Given the description of an element on the screen output the (x, y) to click on. 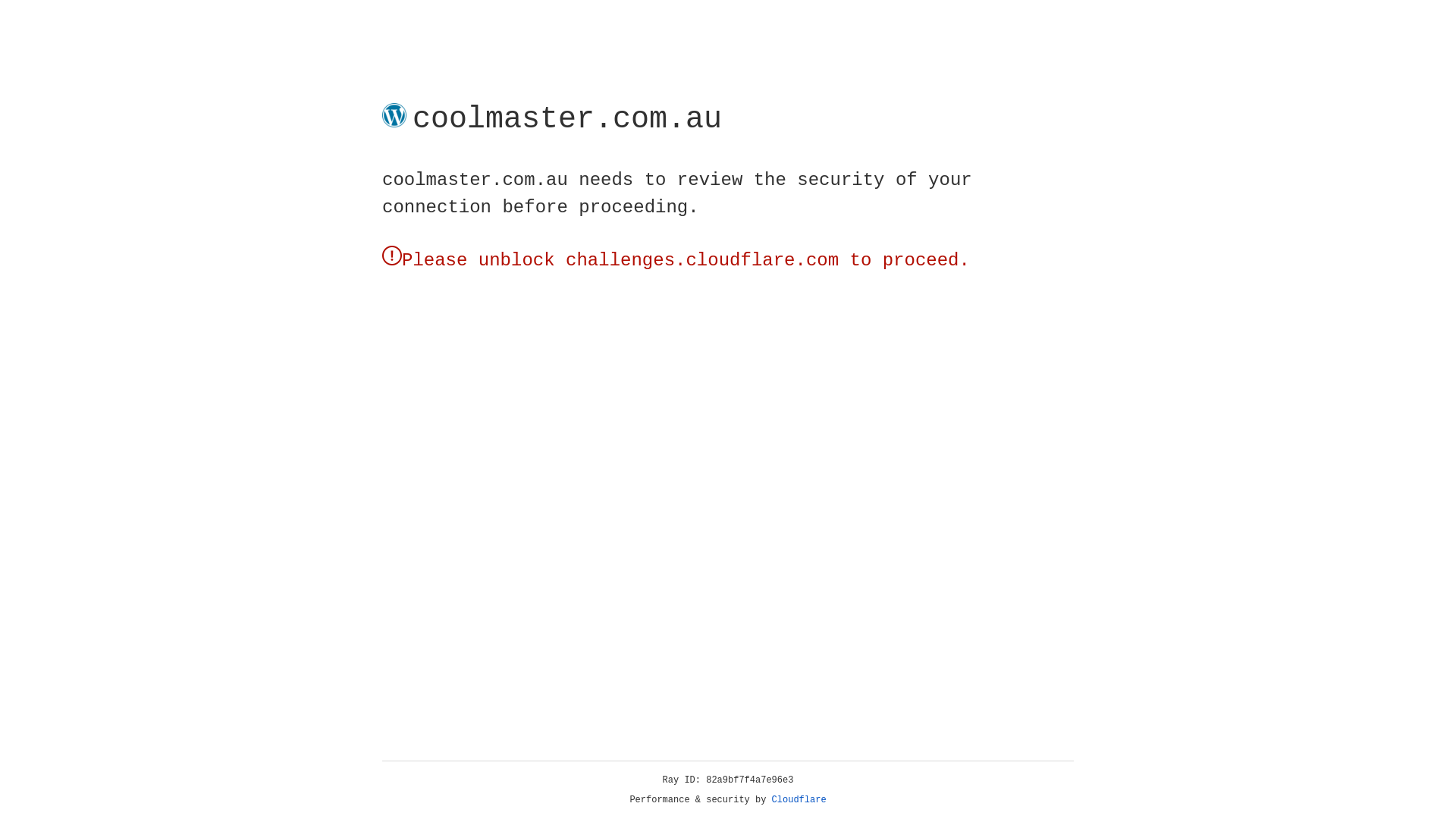
Cloudflare Element type: text (798, 799)
